Given the description of an element on the screen output the (x, y) to click on. 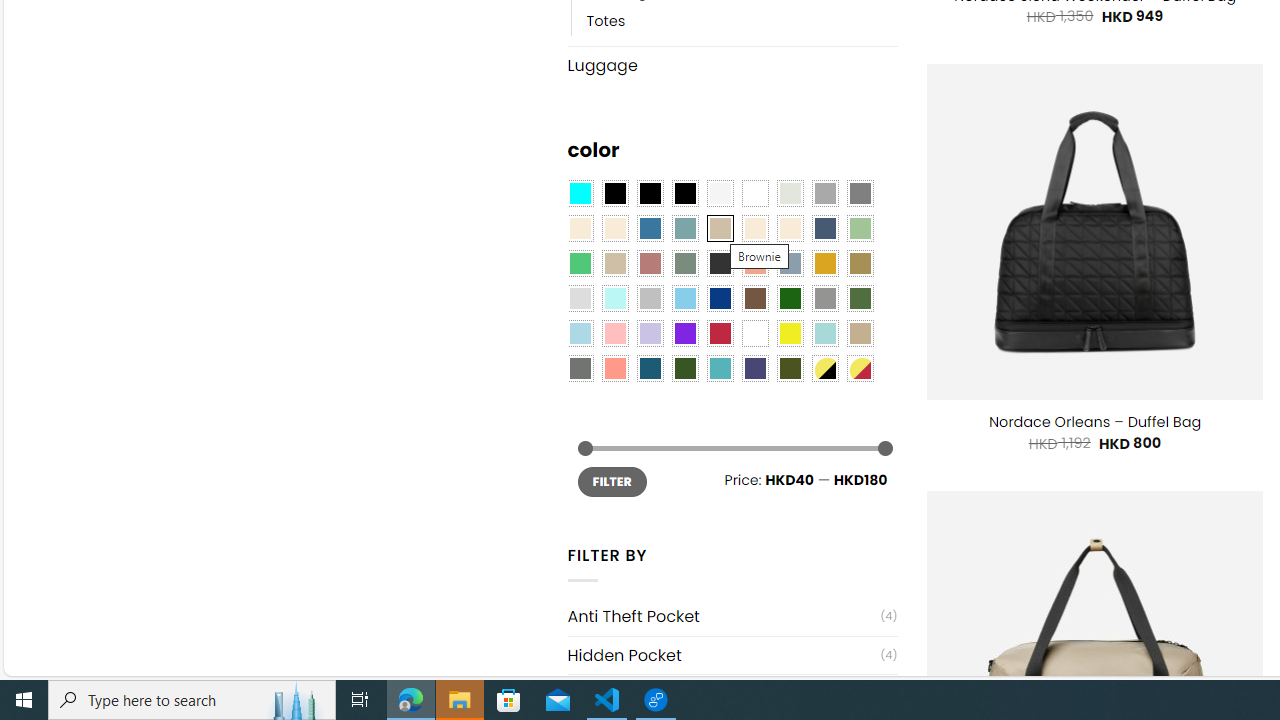
All Black (614, 193)
Silver (650, 298)
Sage (684, 264)
Luggage (732, 65)
Clear (755, 193)
Totes (605, 20)
Beige-Brown (614, 228)
Luggage (732, 64)
Charcoal (719, 264)
Rose (650, 264)
Gray (824, 298)
Ash Gray (789, 193)
Black-Brown (684, 193)
Black (650, 193)
Hidden Pocket (723, 655)
